Given the description of an element on the screen output the (x, y) to click on. 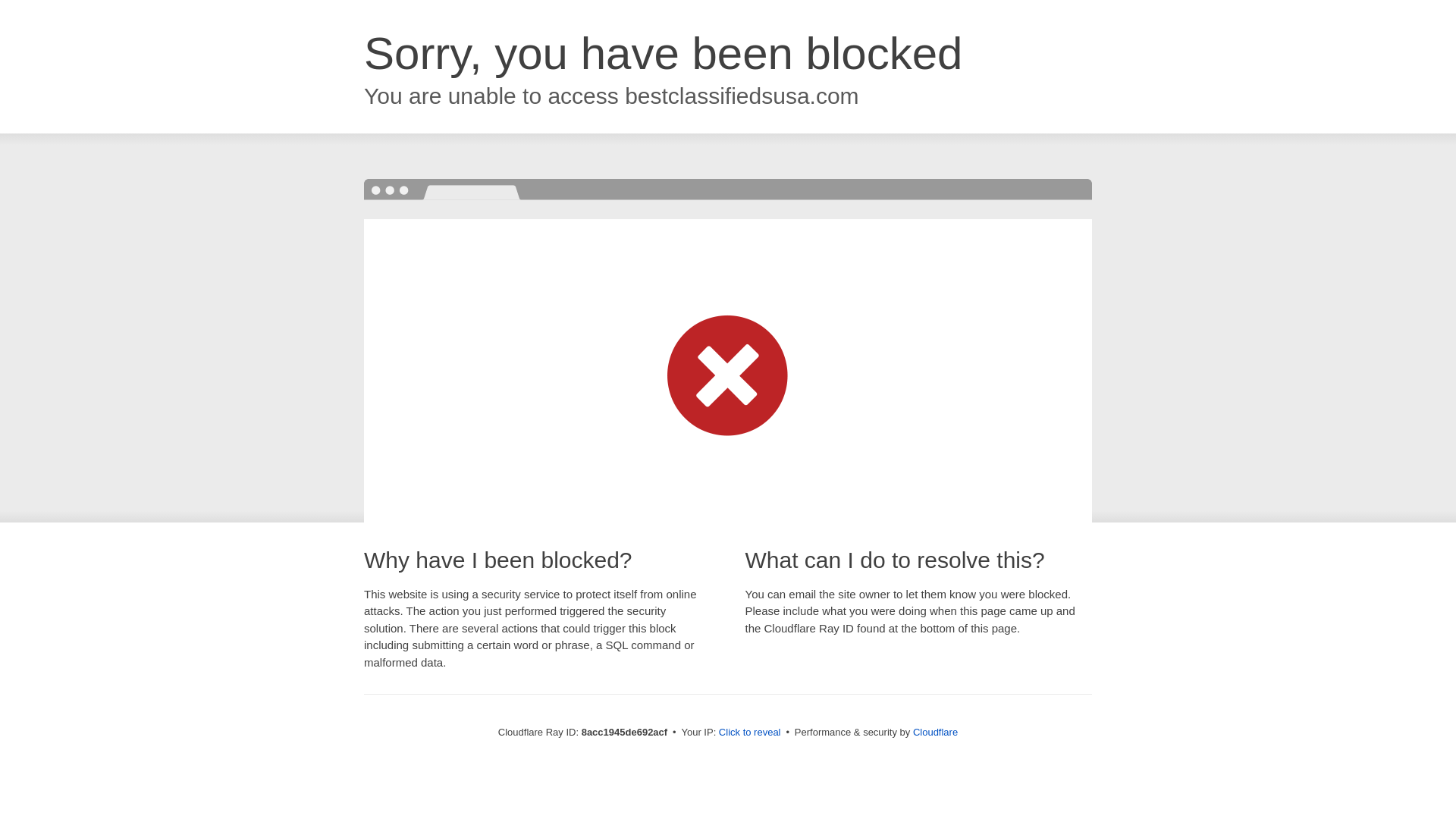
Cloudflare (935, 731)
Click to reveal (749, 732)
